Given the description of an element on the screen output the (x, y) to click on. 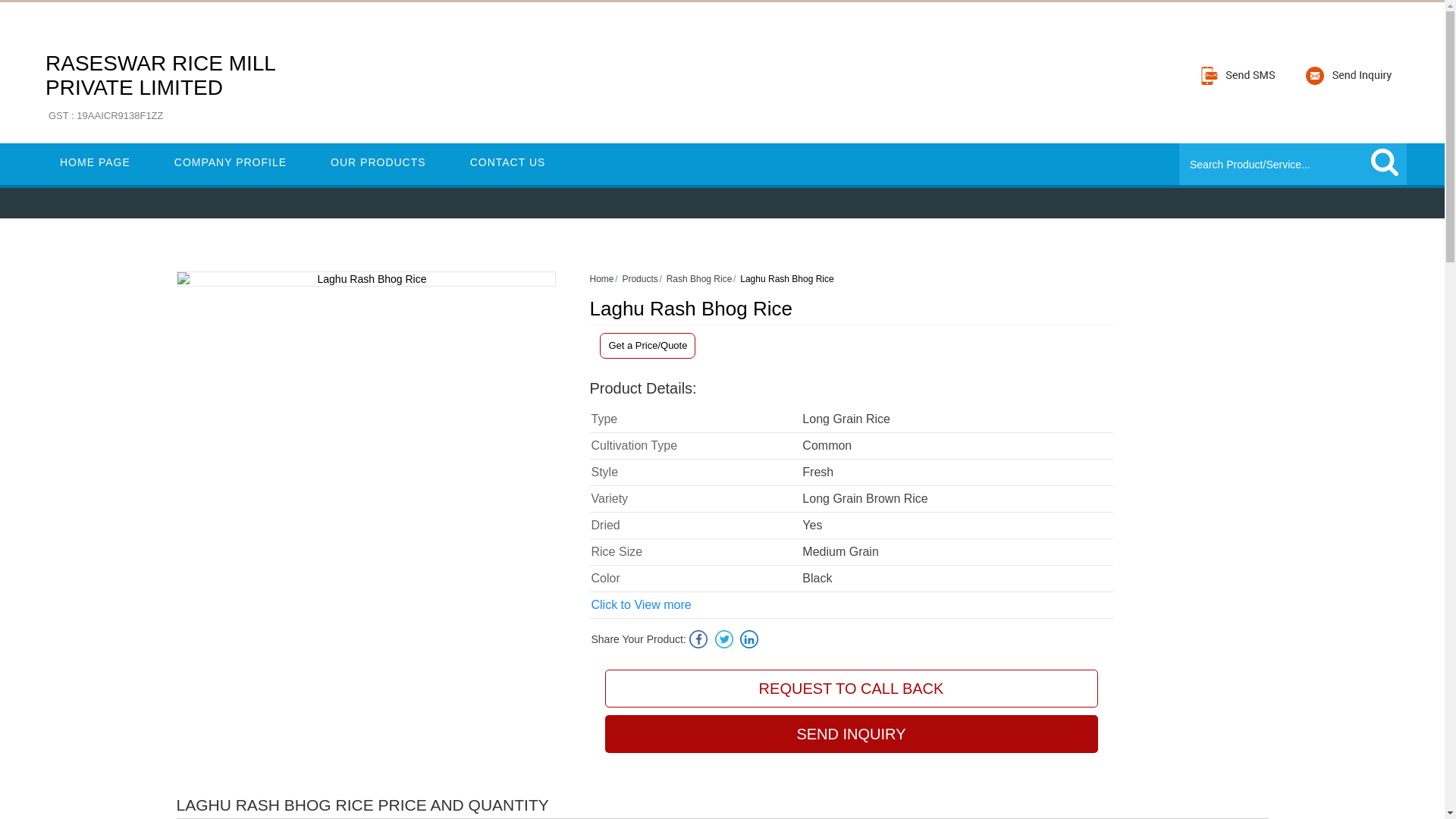
Home (160, 87)
submit (601, 278)
HOME PAGE (1384, 162)
submit (94, 161)
CONTACT US (1384, 162)
OUR PRODUCTS (507, 161)
Rash Bhog Rice (378, 161)
SEND INQUIRY (699, 278)
COMPANY PROFILE (851, 733)
